Given the description of an element on the screen output the (x, y) to click on. 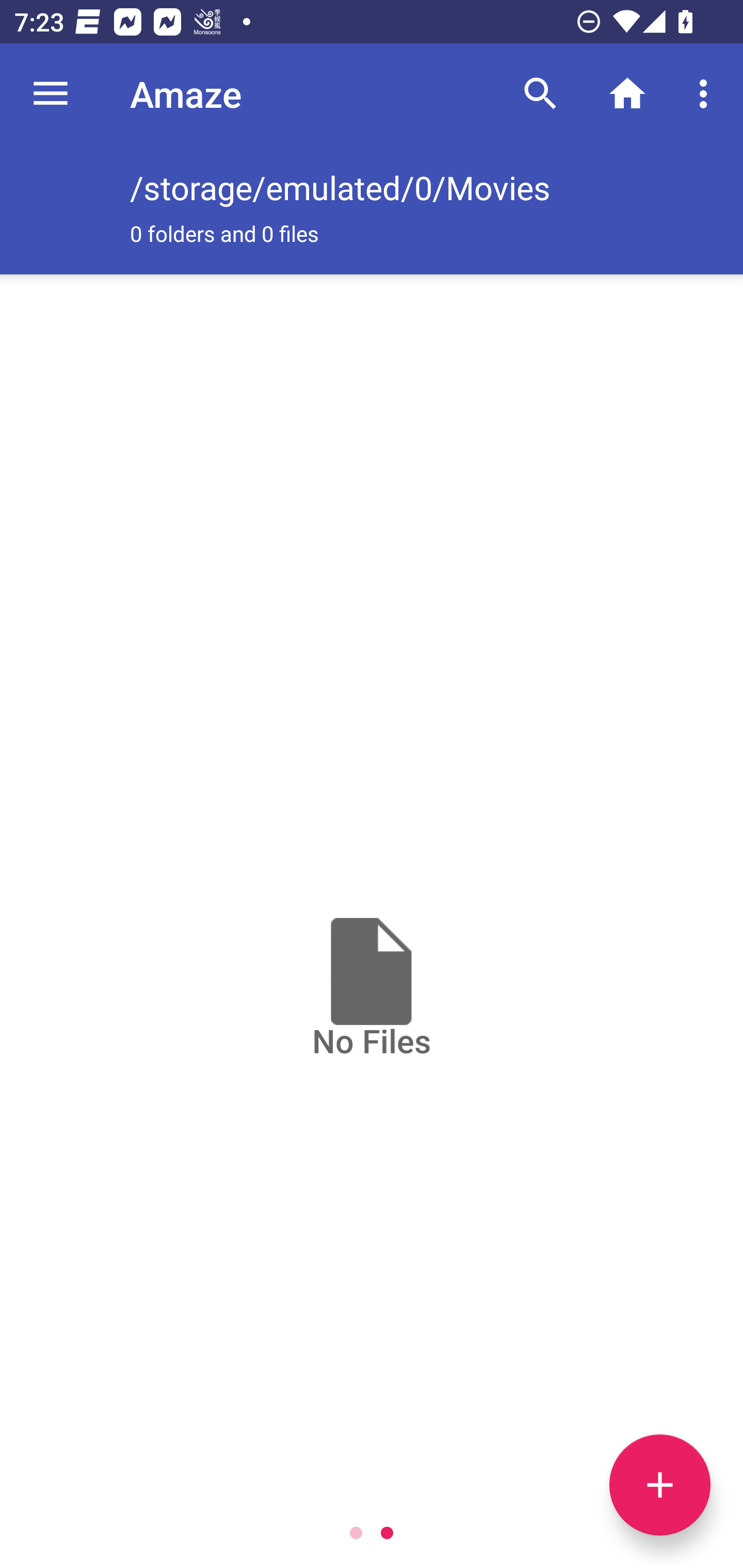
Navigate up (50, 93)
Search (540, 93)
Home (626, 93)
More options (706, 93)
